Given the description of an element on the screen output the (x, y) to click on. 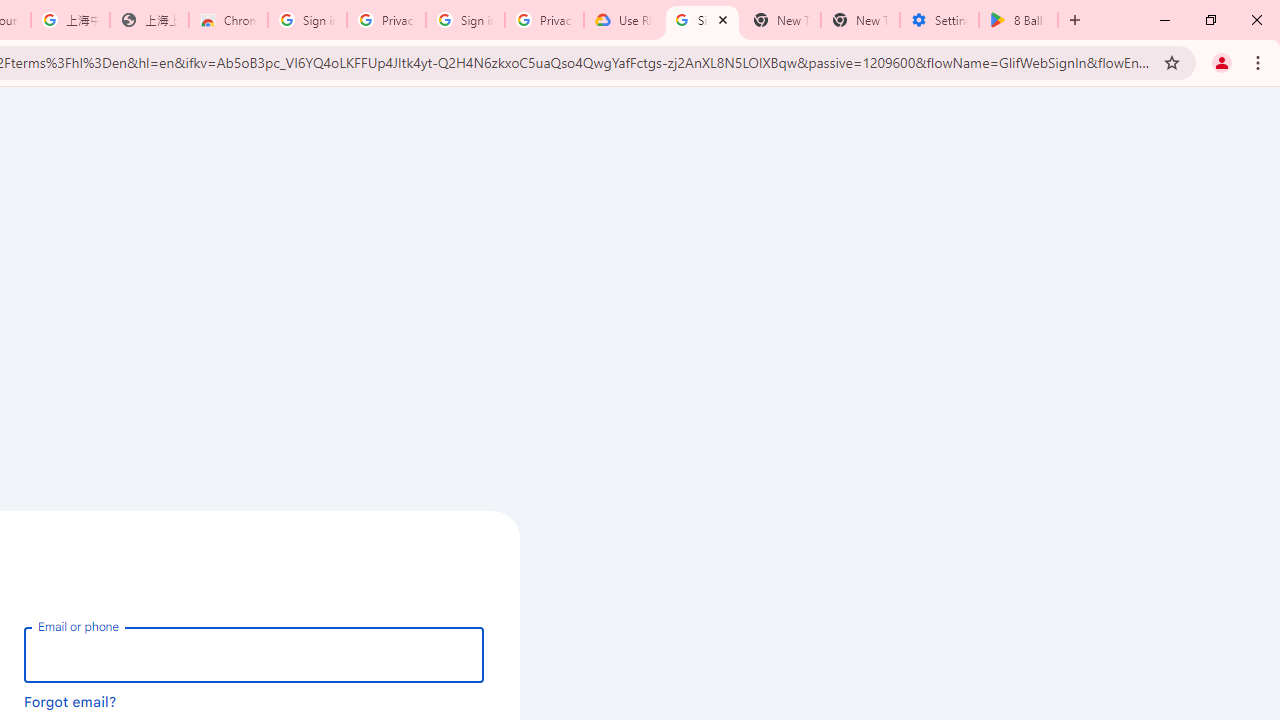
Sign in - Google Accounts (306, 20)
Sign in - Google Accounts (465, 20)
Email or phone (253, 654)
